Given the description of an element on the screen output the (x, y) to click on. 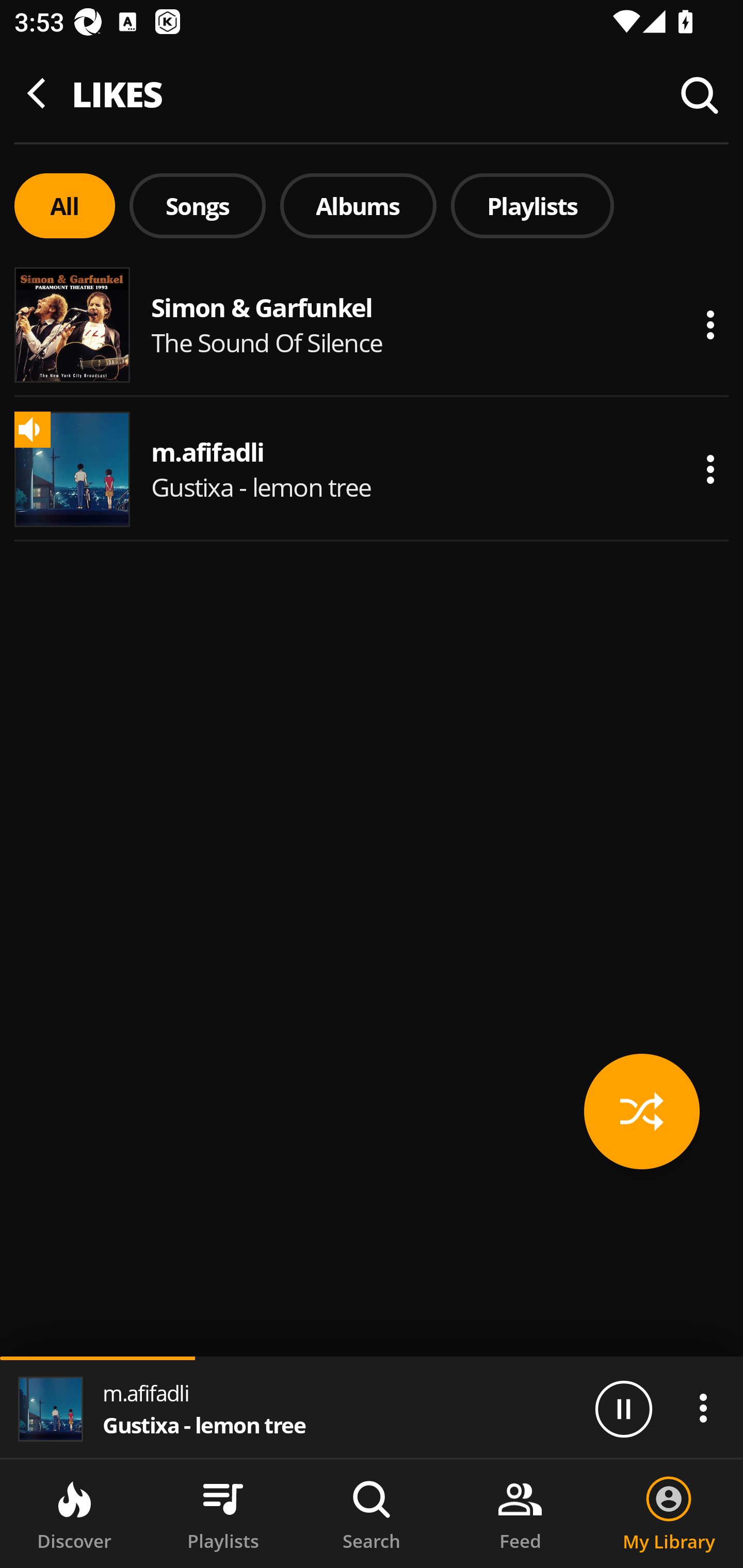
All (64, 206)
Songs (197, 206)
Albums (358, 206)
Playlists (532, 206)
Actions (710, 325)
Actions (710, 469)
accessibility_shuffle (641, 1111)
Actions (703, 1407)
Play/Pause (623, 1408)
Discover (74, 1513)
Playlists (222, 1513)
Search (371, 1513)
Feed (519, 1513)
My Library (668, 1513)
